Given the description of an element on the screen output the (x, y) to click on. 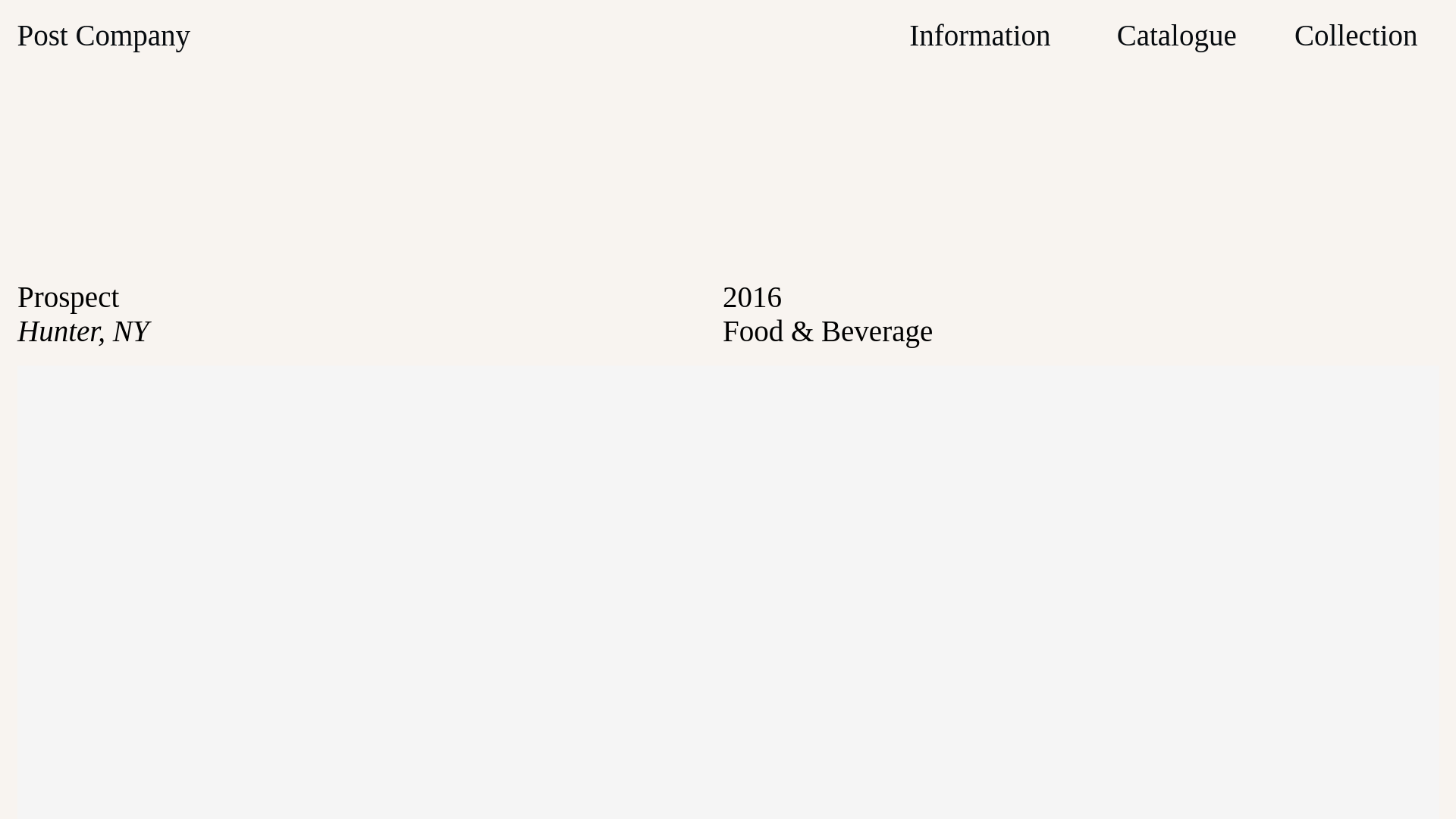
Post Company (103, 35)
Information (978, 34)
Catalogue (1176, 34)
Collection (1355, 34)
